Given the description of an element on the screen output the (x, y) to click on. 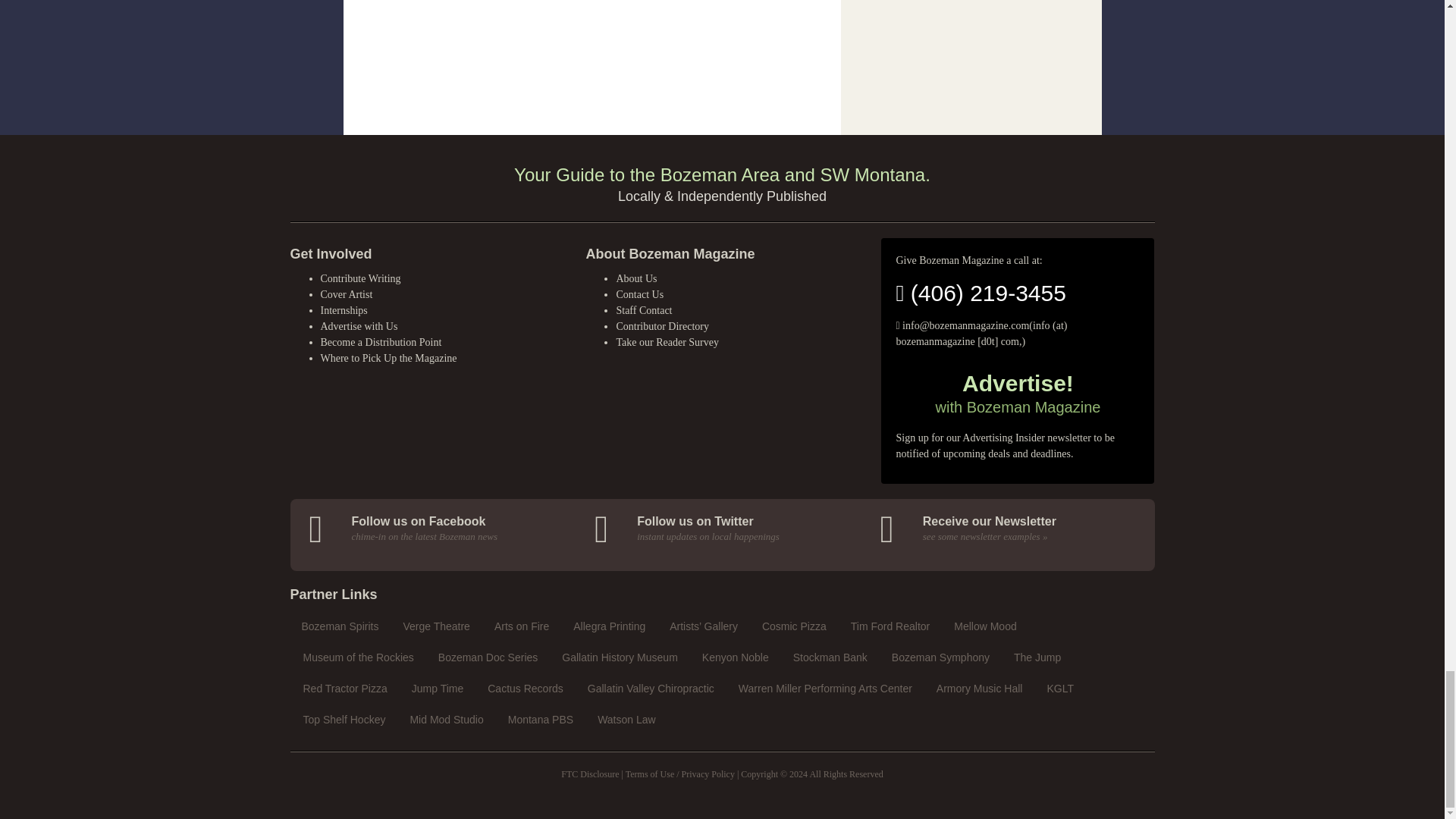
Newsletter (1011, 529)
Facebook (440, 529)
Twitter (725, 529)
